Given the description of an element on the screen output the (x, y) to click on. 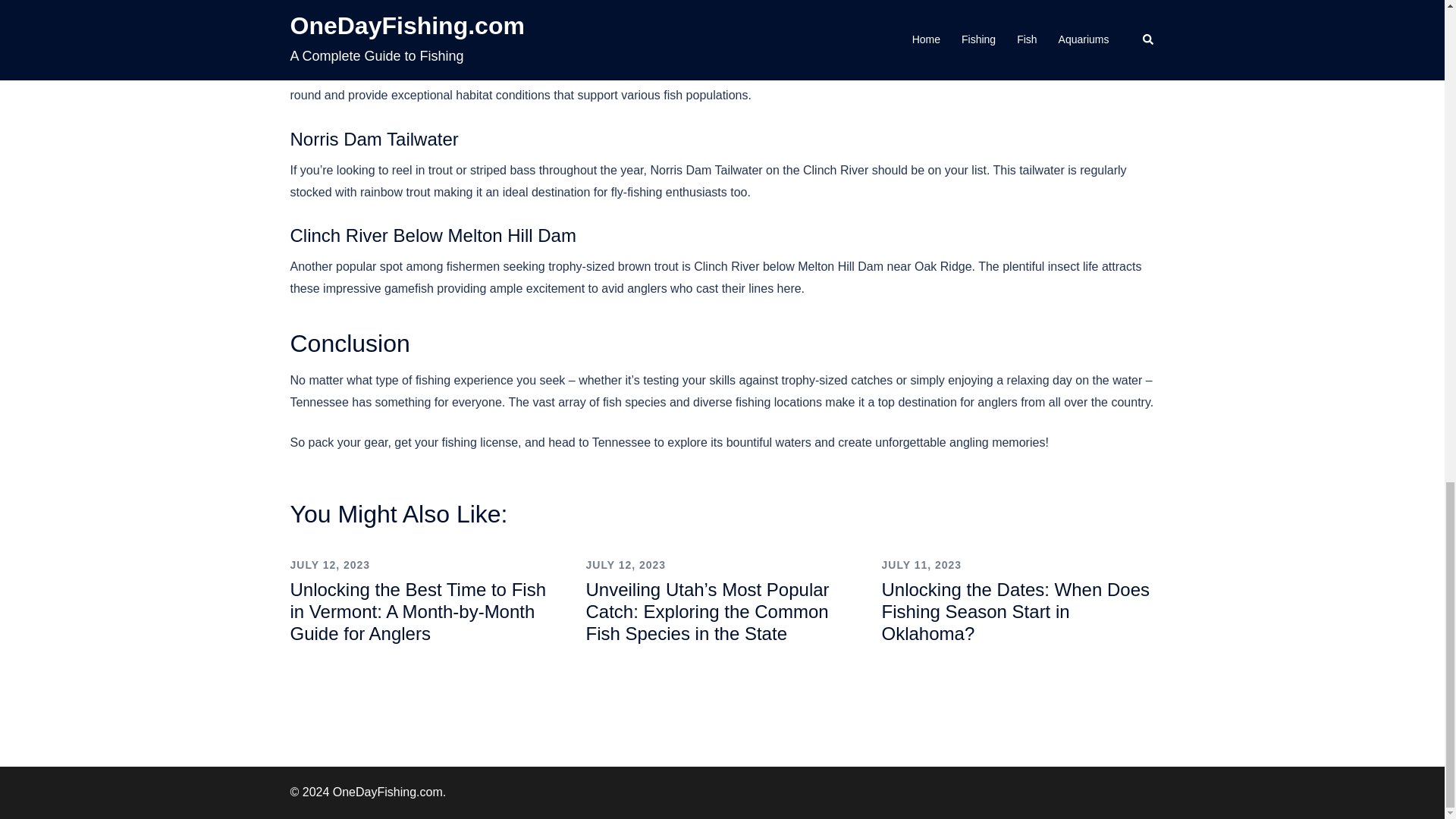
JULY 11, 2023 (920, 564)
JULY 12, 2023 (625, 564)
JULY 12, 2023 (329, 564)
